Given the description of an element on the screen output the (x, y) to click on. 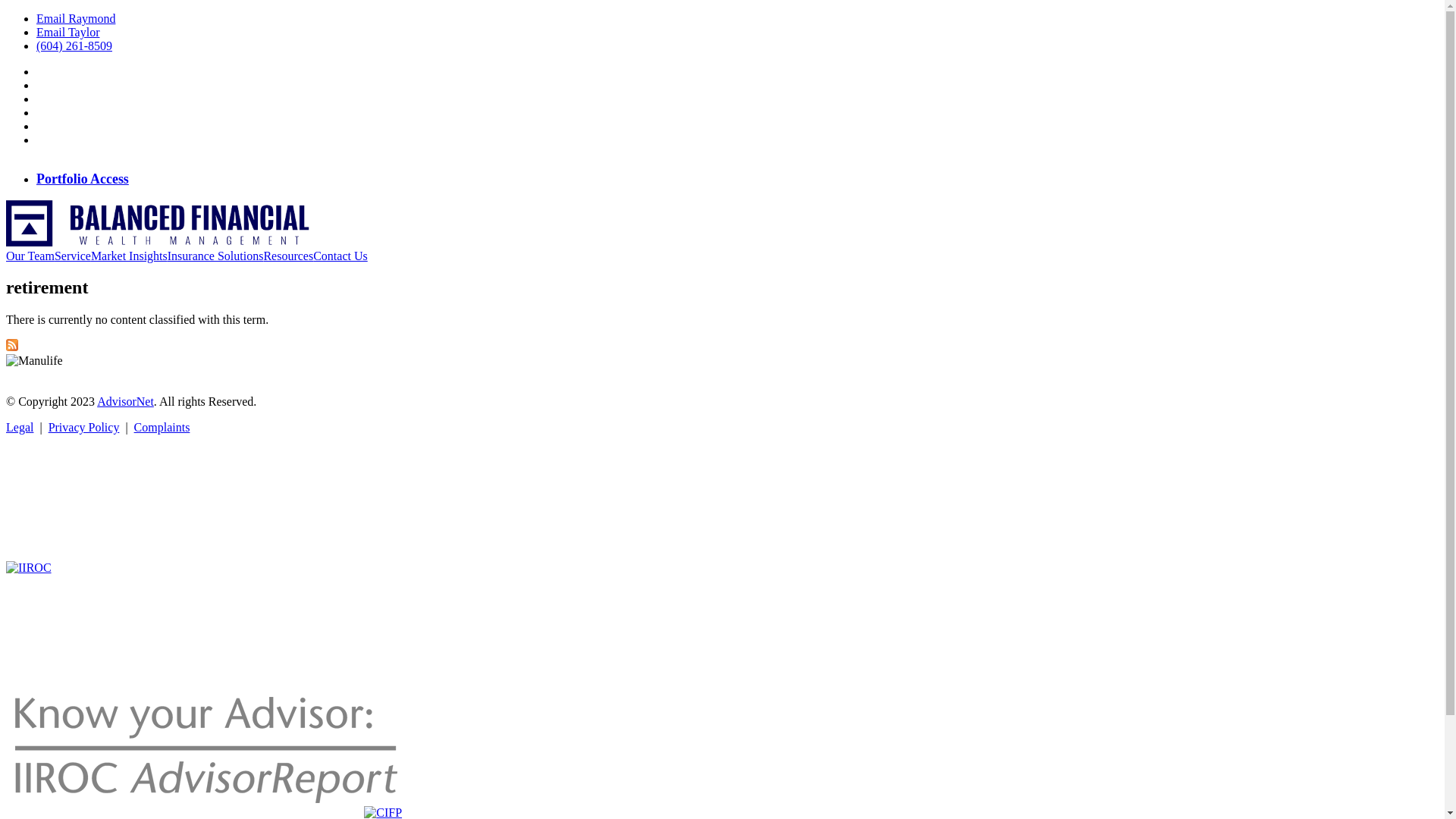
Legal Element type: text (19, 426)
Skip to main content Element type: text (56, 12)
AdvisorNet Element type: text (125, 401)
Home Element type: hover (157, 242)
Subscribe to RSS - retirement Element type: hover (12, 346)
Portfolio Access Element type: text (82, 178)
Complaints Element type: text (162, 426)
Service Element type: text (72, 256)
Our Team Element type: text (30, 256)
(604) 261-8509 Element type: text (74, 45)
Market Insights Element type: text (129, 256)
Email Raymond Element type: text (75, 18)
Contact Us Element type: text (340, 256)
Privacy Policy Element type: text (83, 426)
Resources Element type: text (288, 256)
Insurance Solutions Element type: text (215, 256)
Email Taylor Element type: text (67, 31)
